Given the description of an element on the screen output the (x, y) to click on. 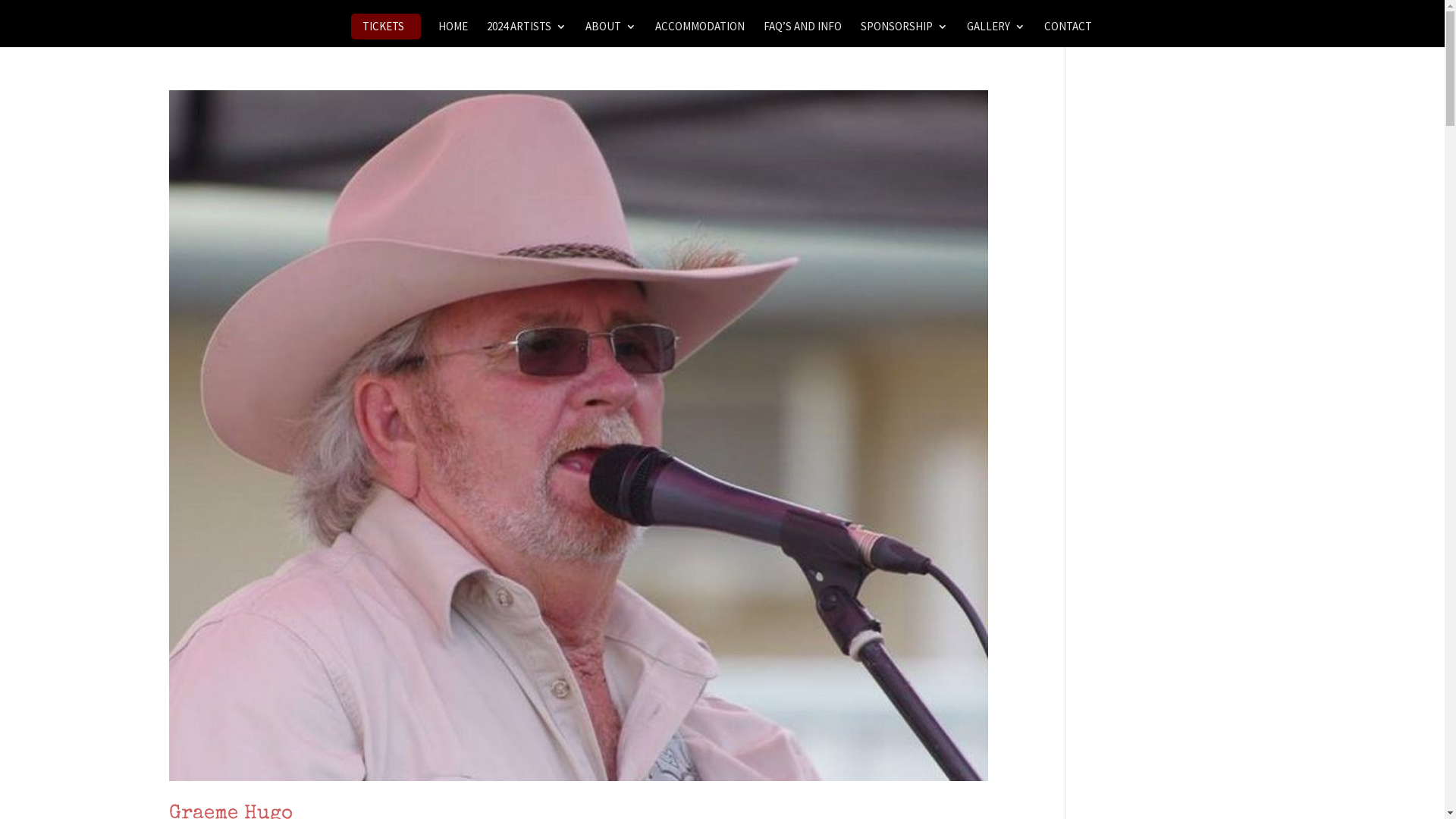
ACCOMMODATION Element type: text (699, 33)
SPONSORSHIP Element type: text (903, 33)
TICKETS Element type: text (377, 26)
GALLERY Element type: text (995, 33)
2024 ARTISTS Element type: text (526, 33)
ABOUT Element type: text (610, 33)
HOME Element type: text (452, 33)
CONTACT Element type: text (1068, 33)
